Given the description of an element on the screen output the (x, y) to click on. 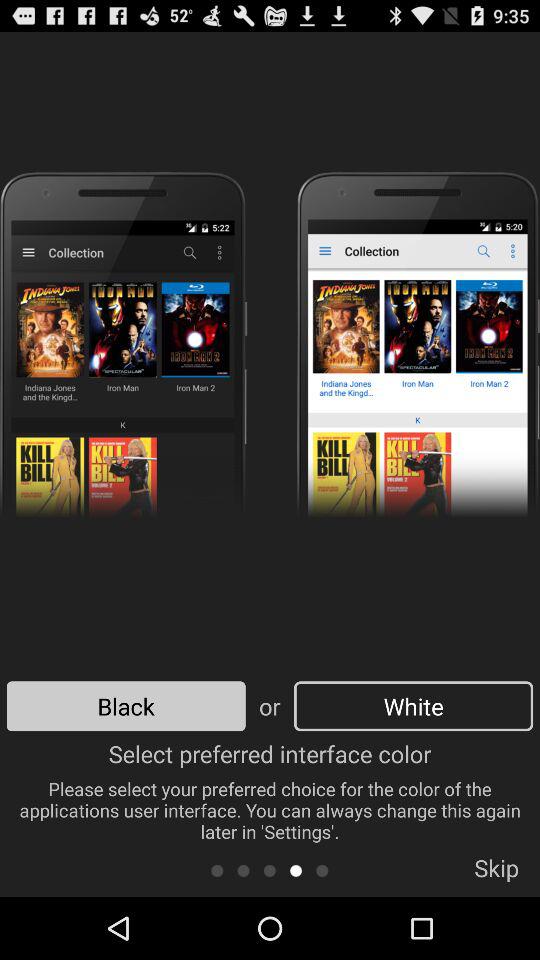
go back (243, 870)
